Given the description of an element on the screen output the (x, y) to click on. 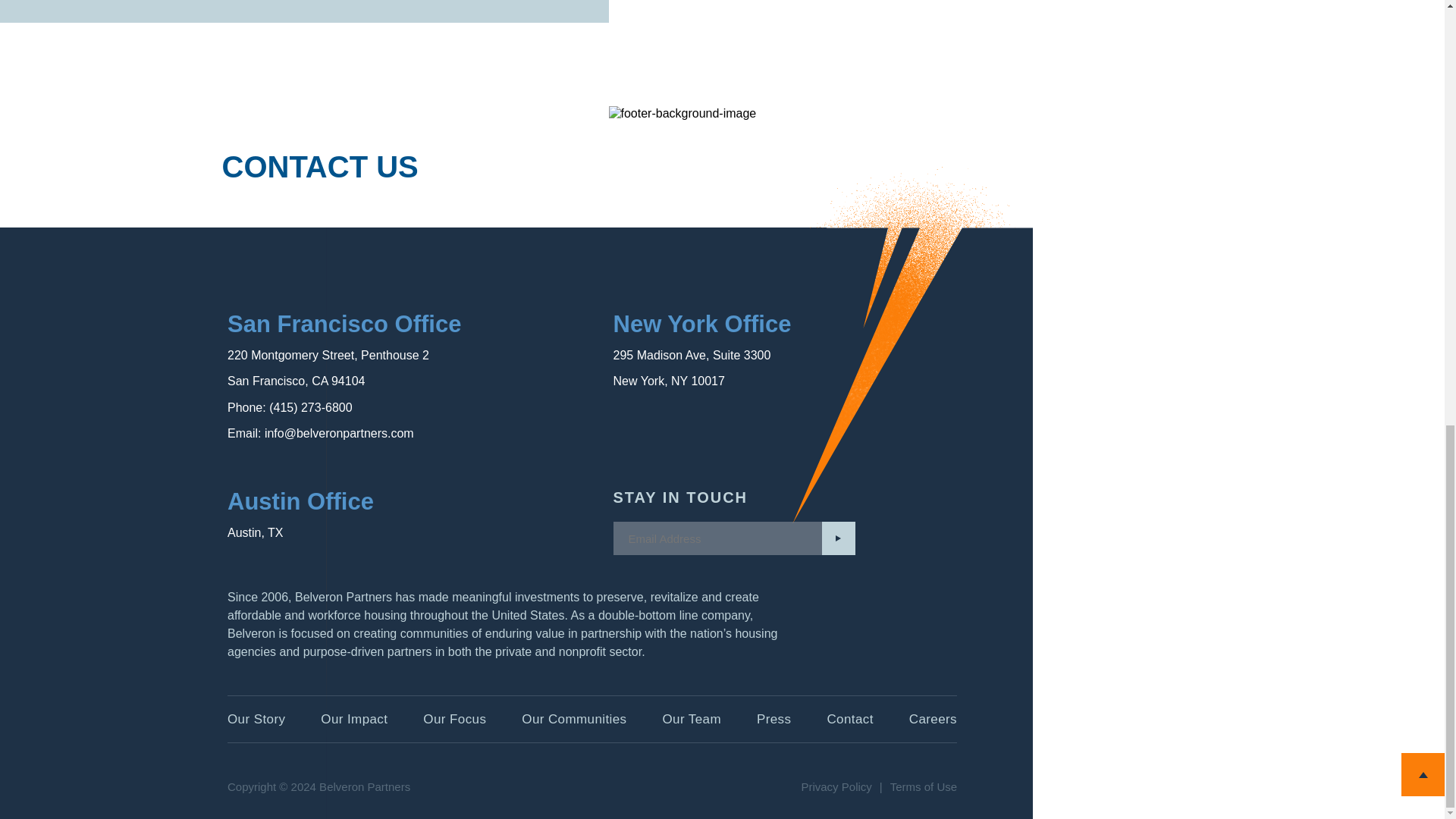
Contact (849, 718)
Our Impact (353, 718)
Our Story (256, 718)
Our Focus (454, 718)
Terms of Use (922, 786)
Careers (932, 718)
Our Team (691, 718)
Press (773, 718)
Our Communities (573, 718)
Submit (839, 538)
Privacy Policy (835, 786)
